Given the description of an element on the screen output the (x, y) to click on. 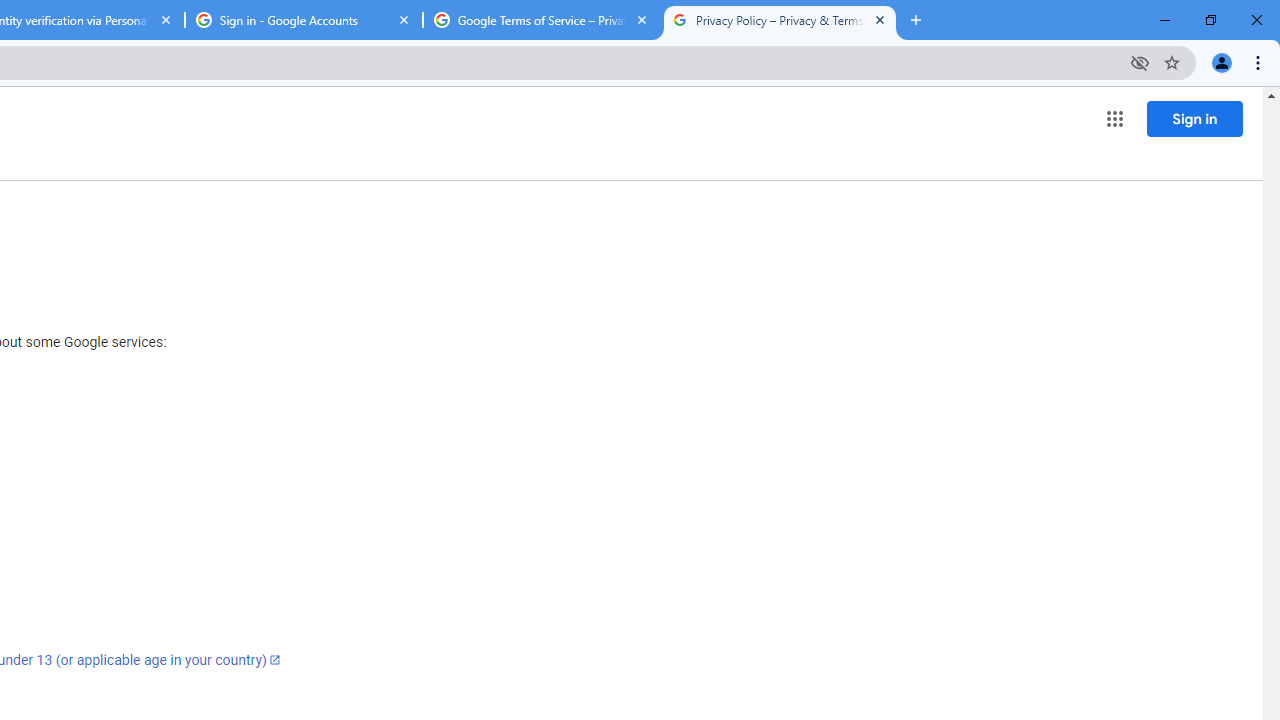
Sign in - Google Accounts (304, 20)
